Given the description of an element on the screen output the (x, y) to click on. 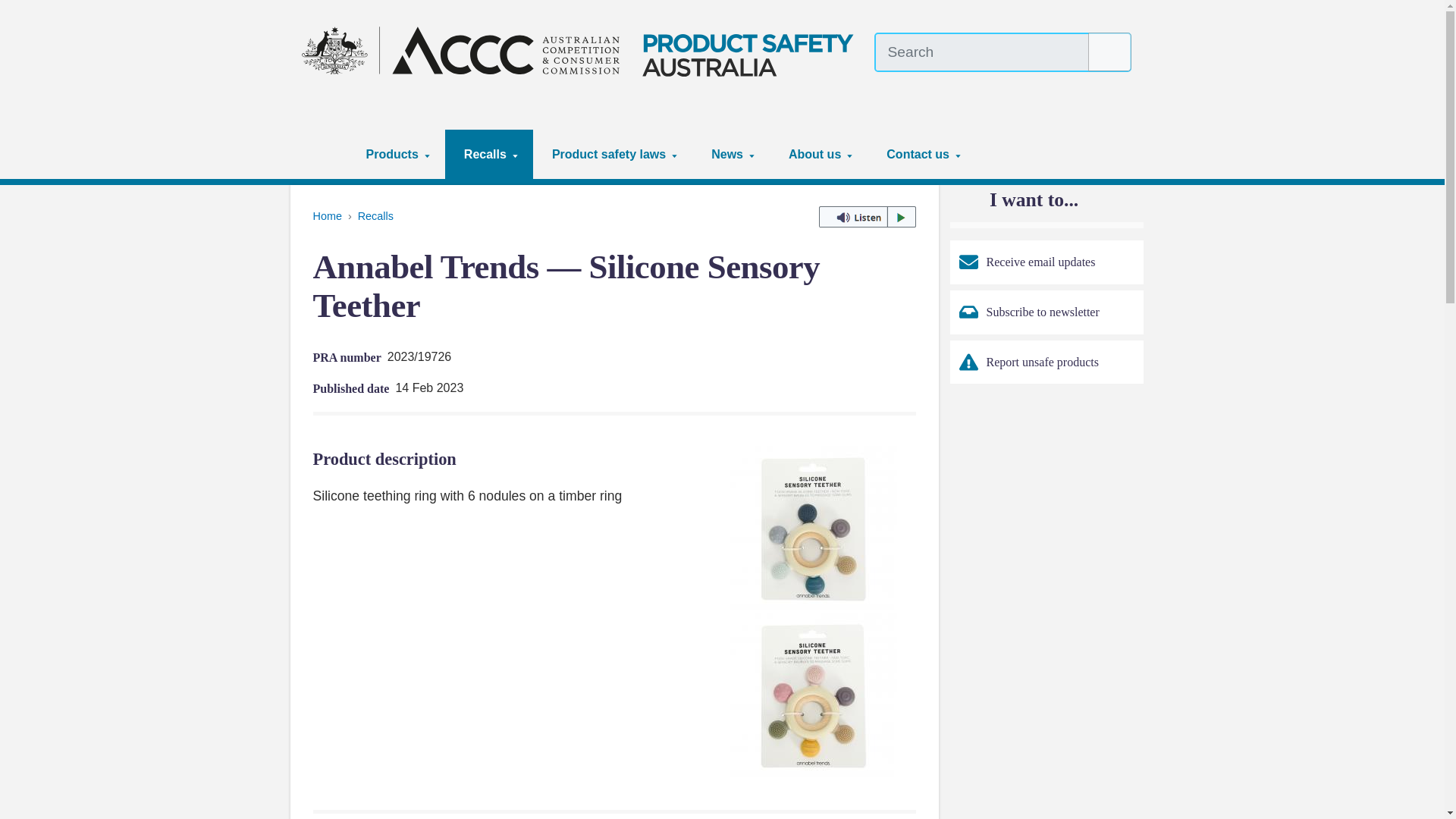
Search (1109, 51)
Product Safety Australia home (582, 49)
Listen to this page using ReadSpeaker (866, 216)
Home (324, 154)
Products (396, 154)
About website translation (1123, 87)
